Given the description of an element on the screen output the (x, y) to click on. 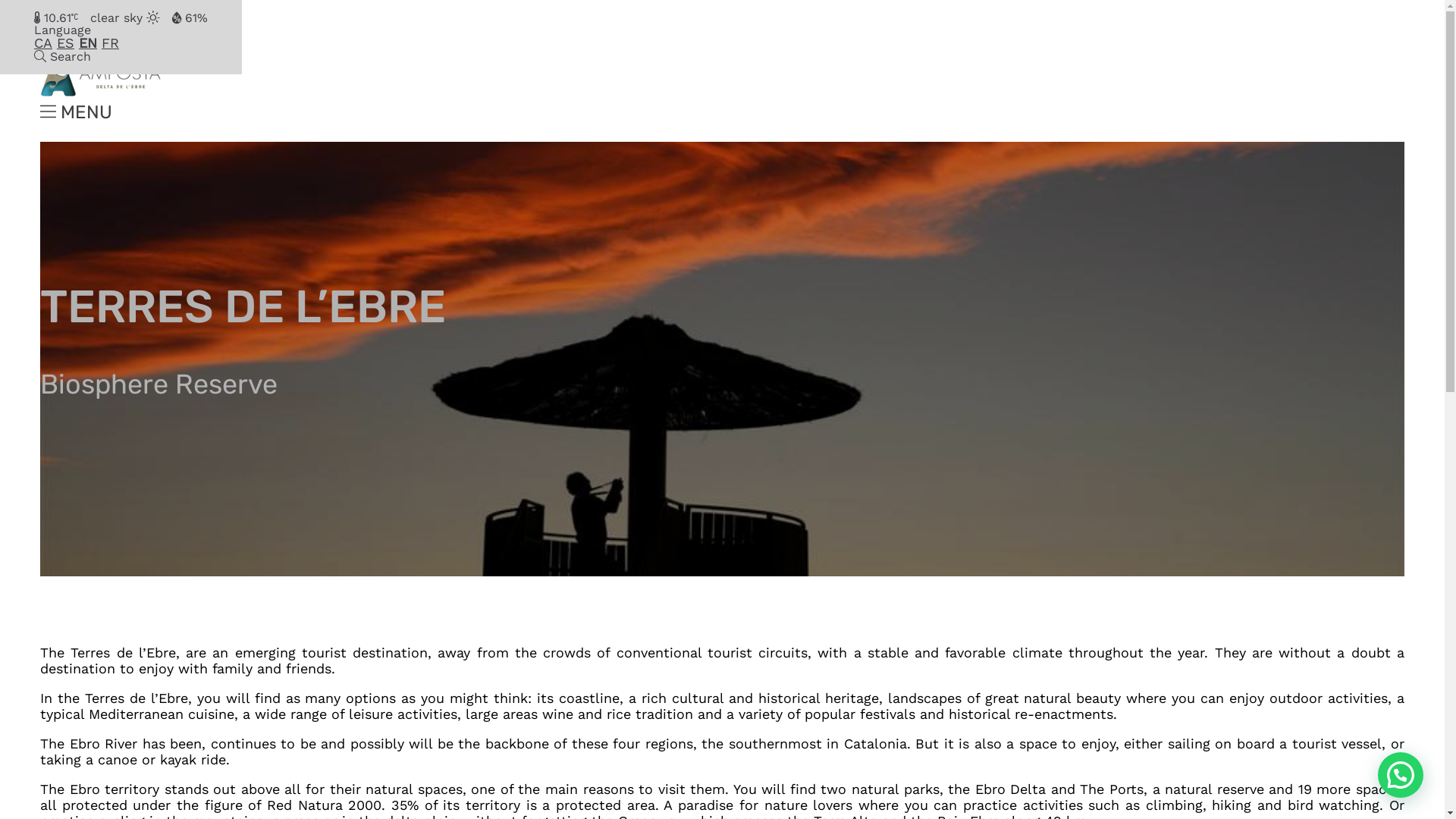
FR Element type: text (110, 42)
CA Element type: text (43, 42)
EN Element type: text (87, 42)
ES Element type: text (65, 42)
Search Element type: text (62, 56)
MENU Element type: text (76, 111)
